Given the description of an element on the screen output the (x, y) to click on. 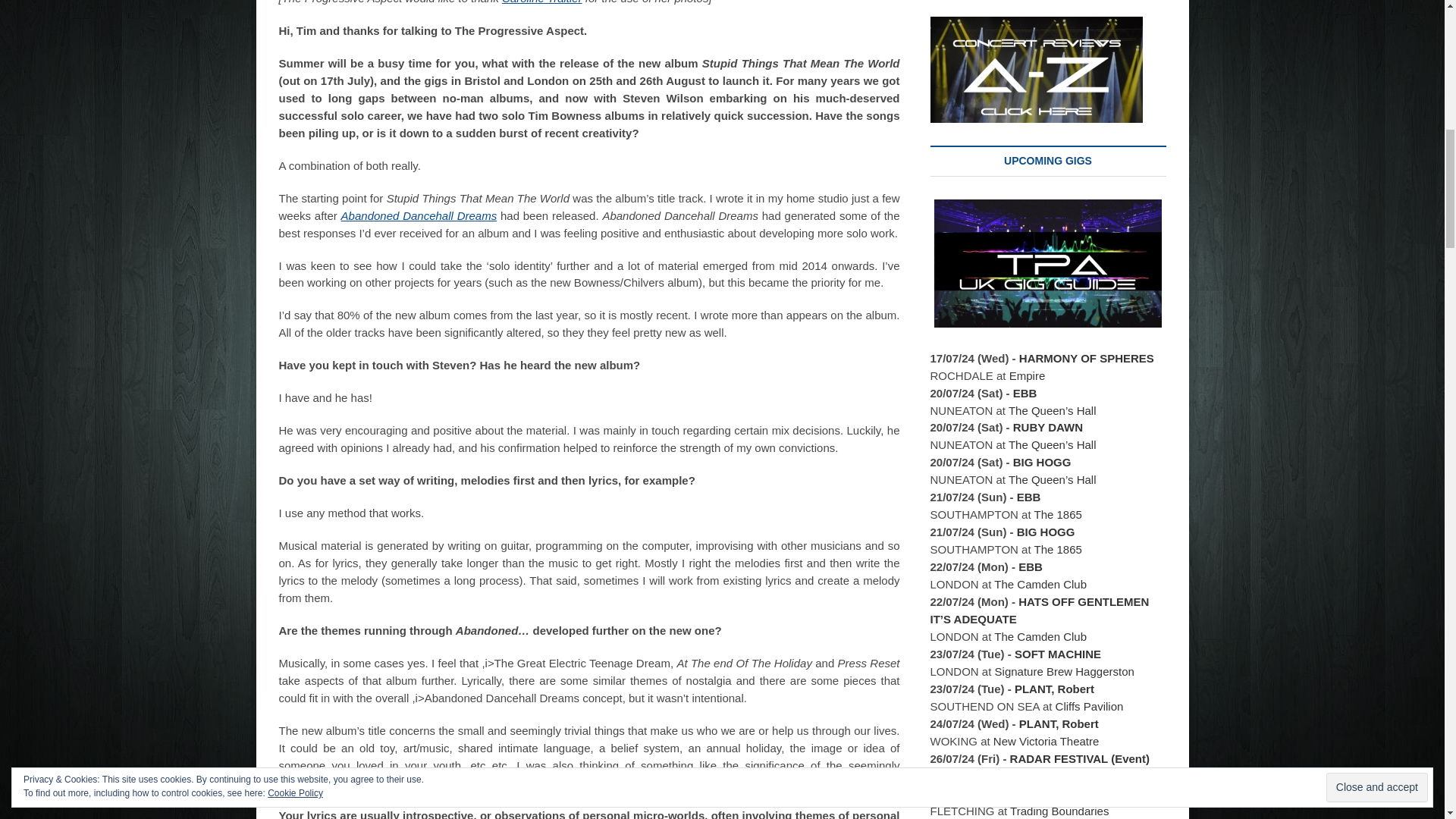
Caroline Traitler (542, 2)
